Given the description of an element on the screen output the (x, y) to click on. 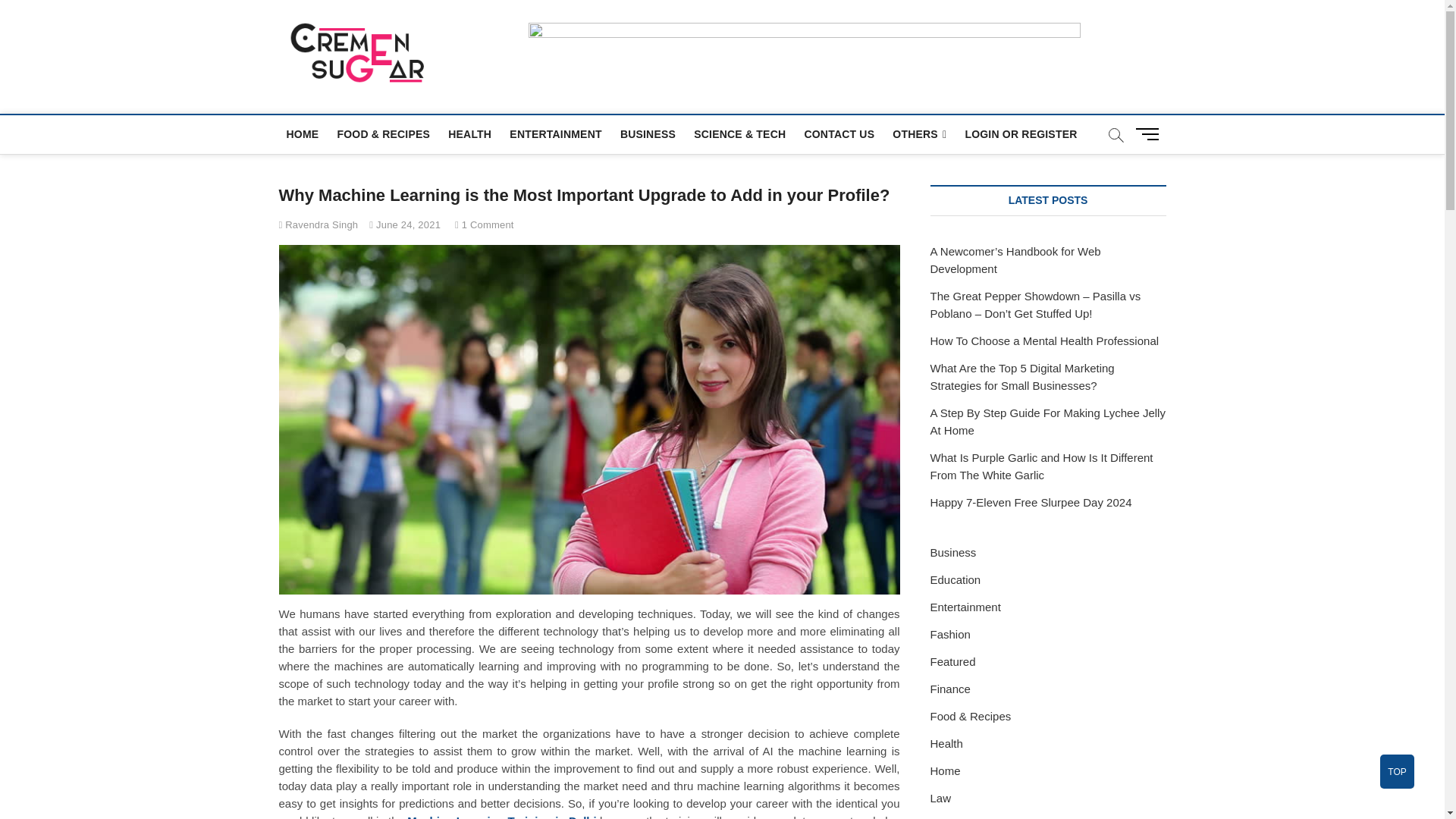
CremeNsugar (520, 50)
OTHERS (919, 134)
BUSINESS (647, 134)
CremeNsugar (520, 50)
Menu Button (1150, 133)
HEALTH (470, 134)
June 24, 2021 (405, 224)
HOME (302, 134)
CONTACT US (839, 134)
ENTERTAINMENT (555, 134)
LOGIN OR REGISTER (1020, 134)
